Given the description of an element on the screen output the (x, y) to click on. 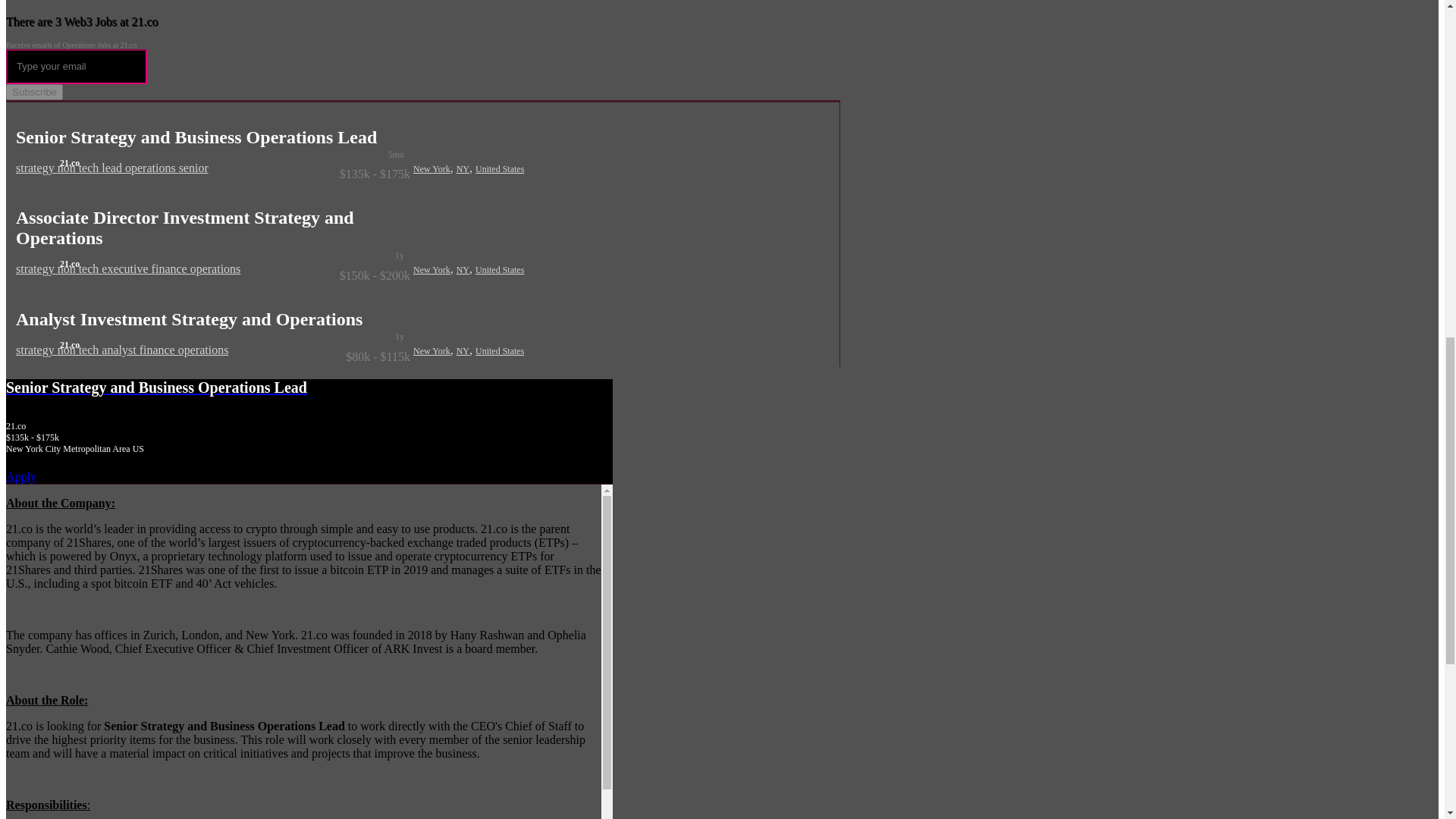
Subscribe (33, 91)
